Given the description of an element on the screen output the (x, y) to click on. 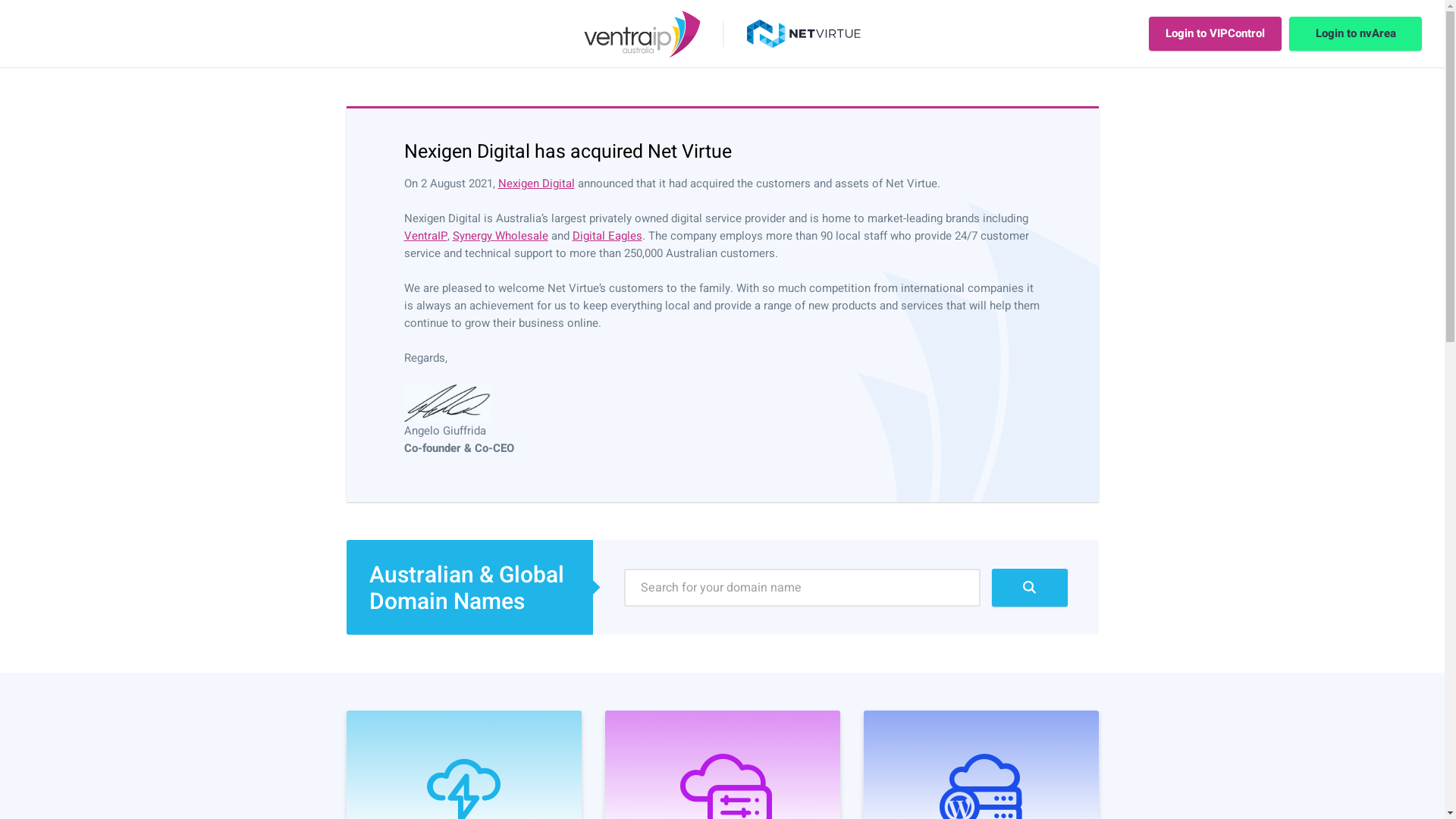
Synergy Wholesale Element type: text (499, 235)
Digital Eagles Element type: text (606, 235)
VentraIP Element type: text (424, 235)
Nexigen Digital Element type: text (535, 183)
Login to nvArea Element type: text (1355, 33)
Login to VIPControl Element type: text (1214, 33)
